Given the description of an element on the screen output the (x, y) to click on. 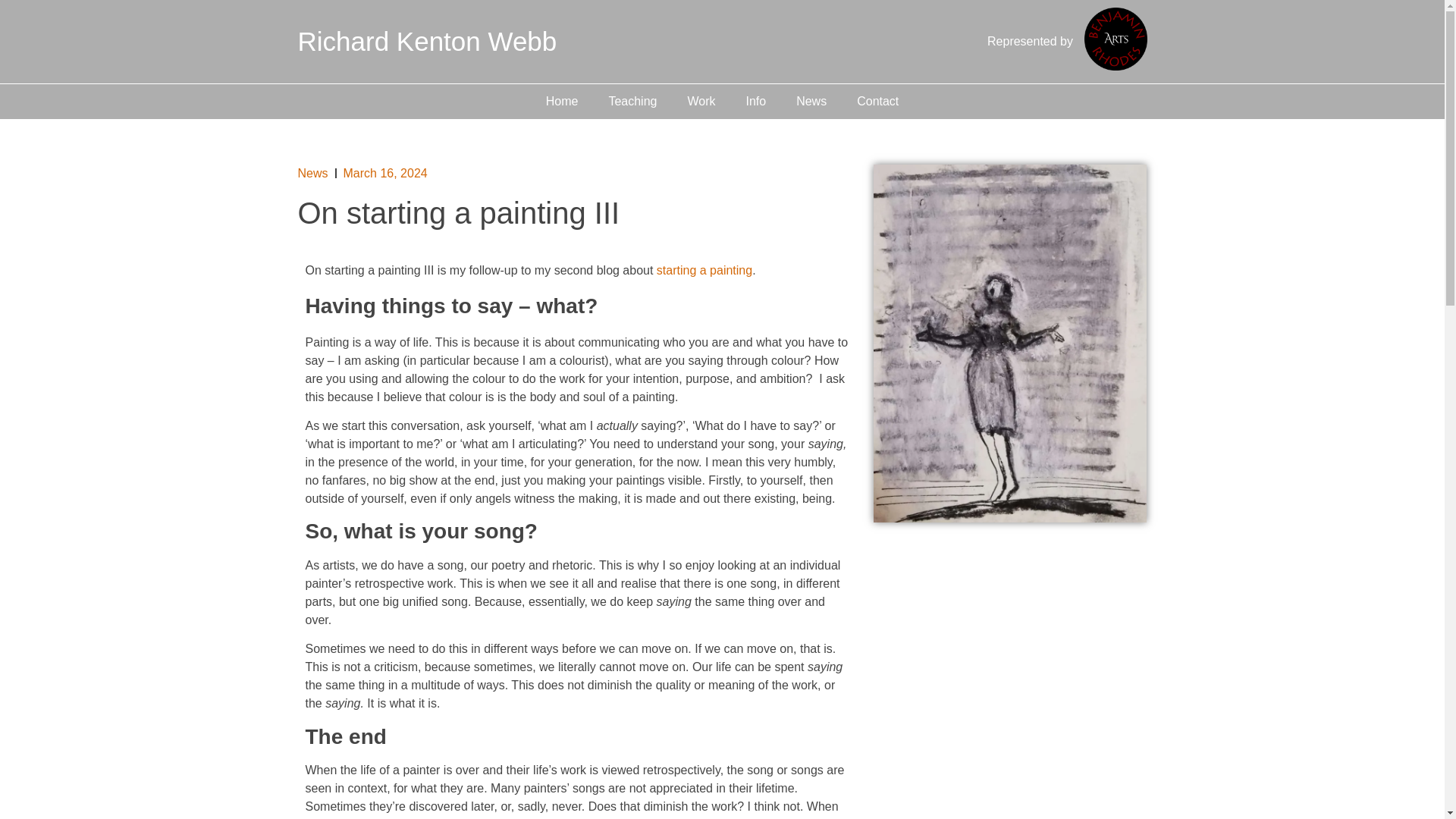
News (810, 100)
Richard Kenton Webb (426, 41)
Teaching (631, 100)
Contact (877, 100)
News (312, 173)
Home (562, 100)
starting a painting (704, 269)
Info (755, 100)
Work (700, 100)
